Given the description of an element on the screen output the (x, y) to click on. 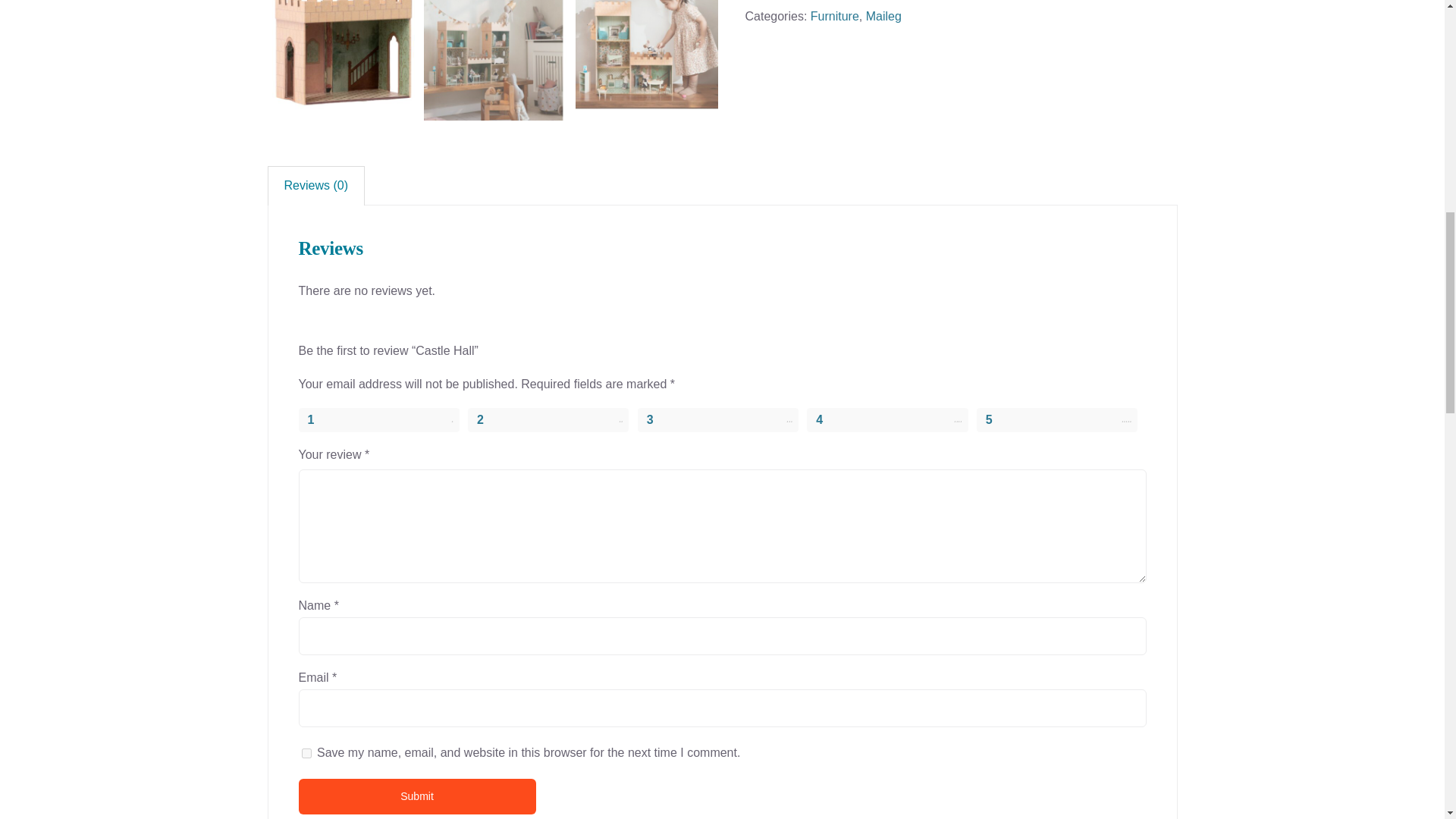
Submit (416, 796)
yes (306, 753)
